Given the description of an element on the screen output the (x, y) to click on. 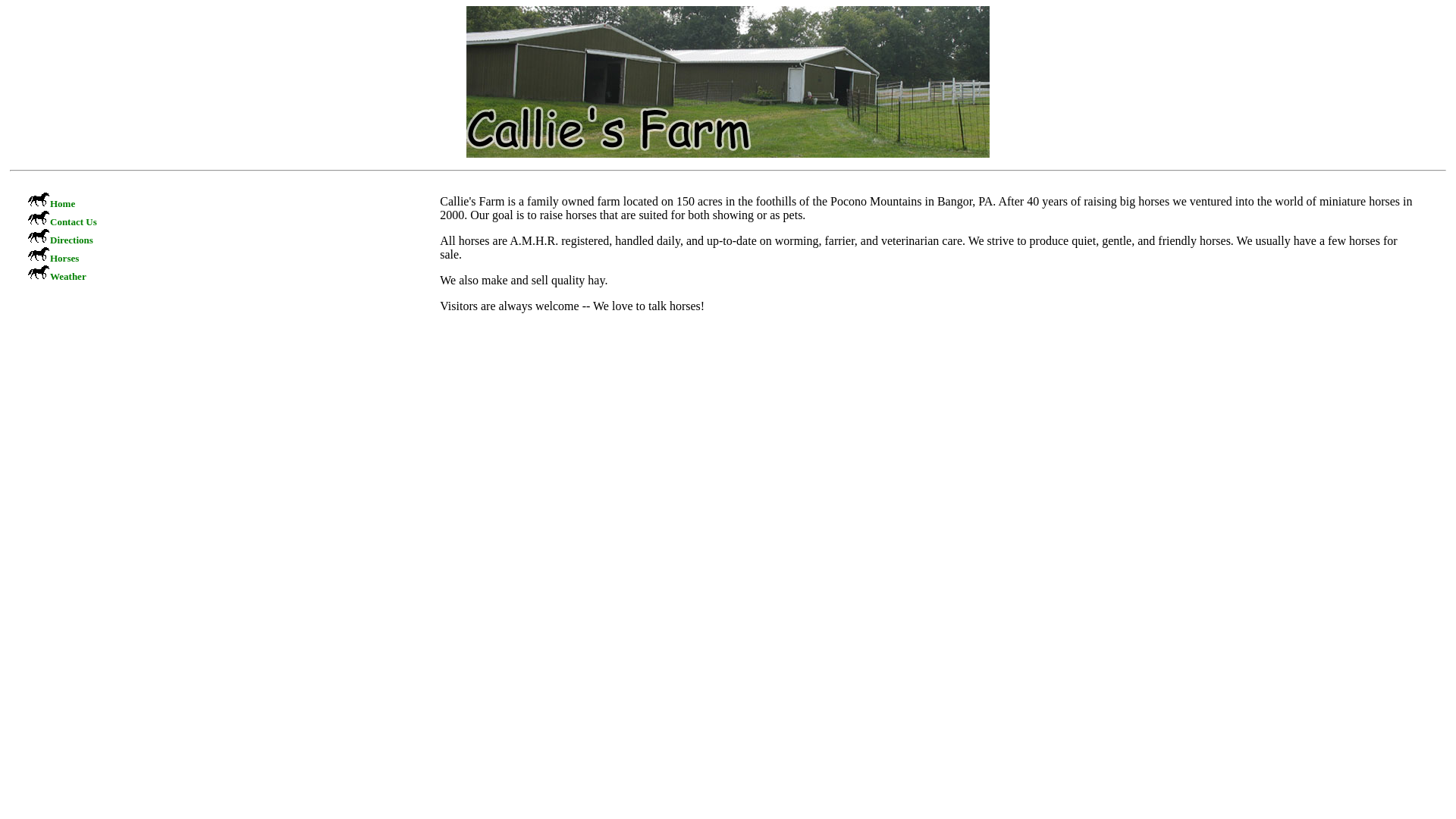
Weather (67, 276)
Home (62, 203)
Directions (71, 239)
Horses (63, 257)
Contact Us (73, 221)
